Given the description of an element on the screen output the (x, y) to click on. 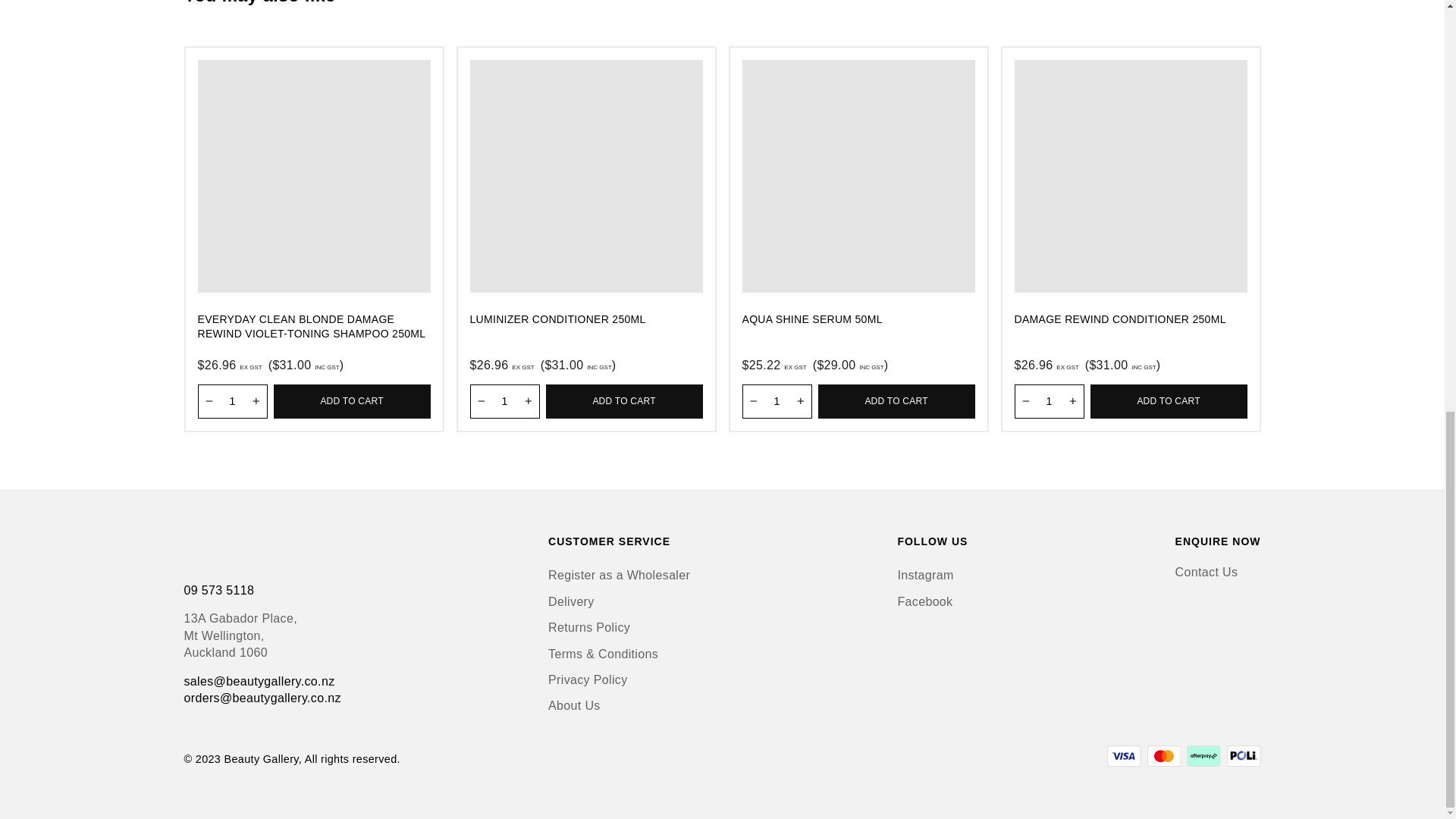
1 (775, 401)
1 (231, 401)
1 (505, 401)
Contact (1206, 571)
1 (1049, 401)
